Given the description of an element on the screen output the (x, y) to click on. 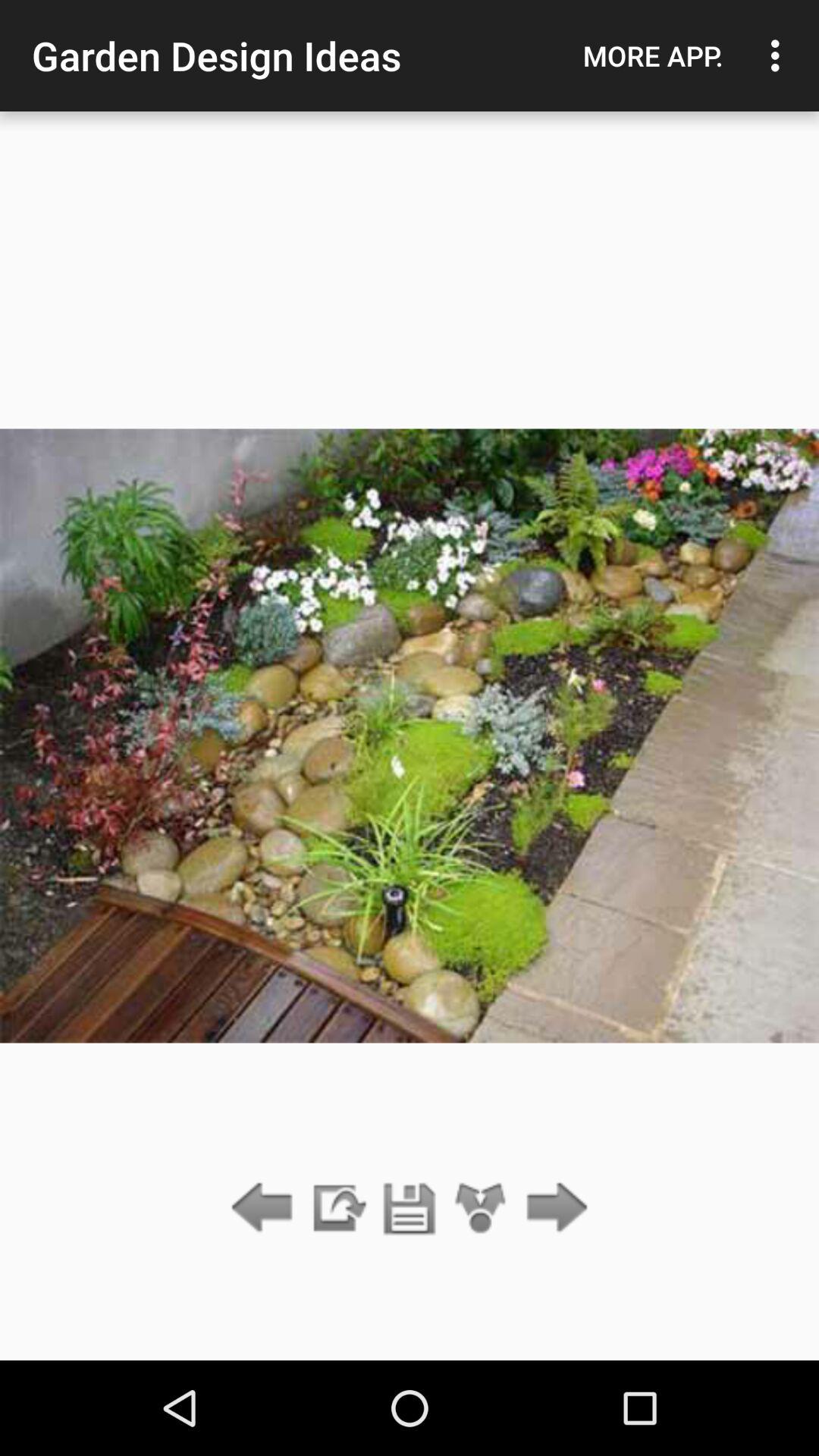
choose more app. icon (653, 55)
